Given the description of an element on the screen output the (x, y) to click on. 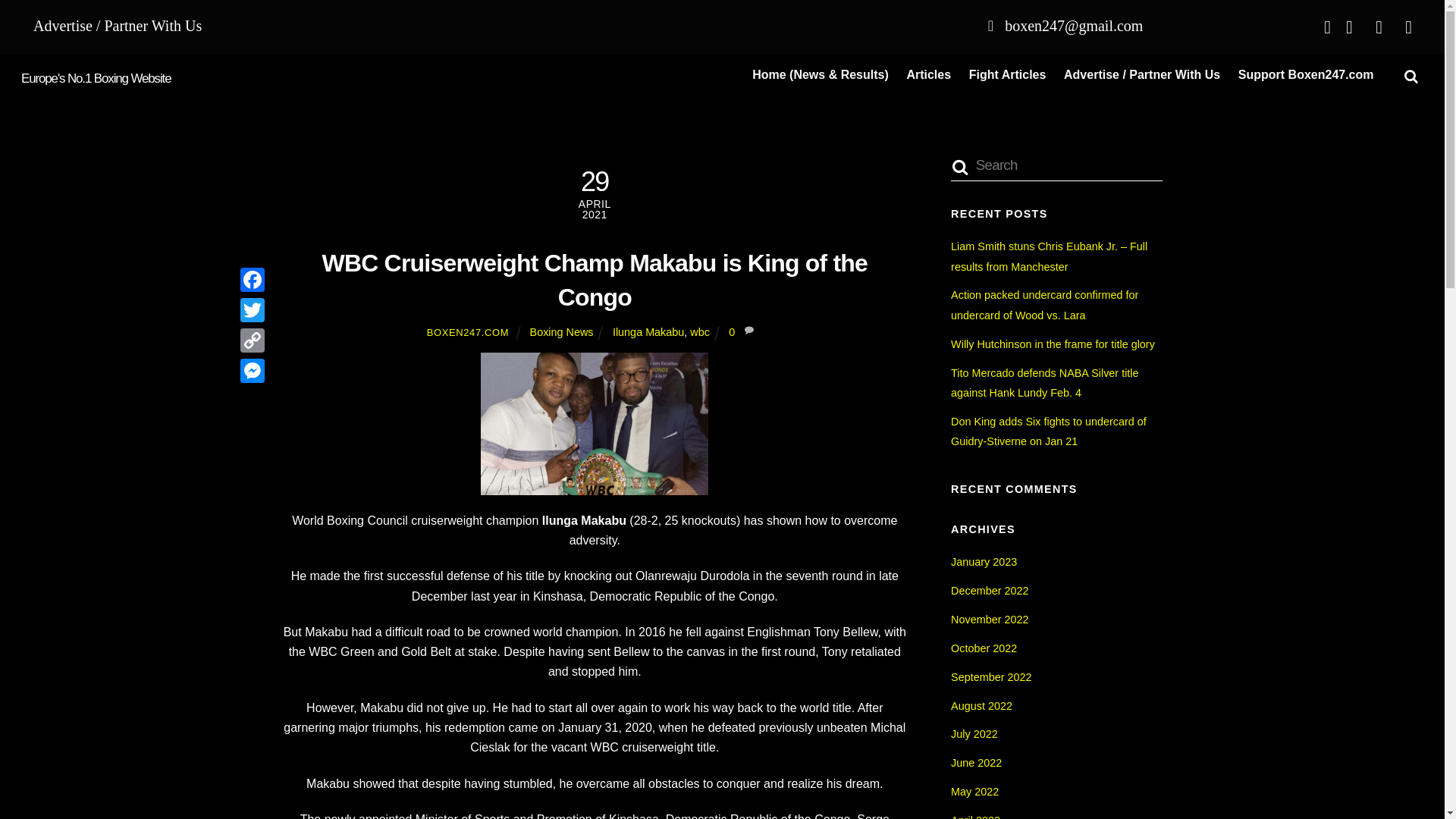
Search (1055, 165)
BOXEN247.COM (467, 332)
Europe's No.1 Boxing Website (95, 78)
WBC Cruiserweight Champ Makabu is King of the Congo (594, 280)
Boxing News (561, 331)
Ilunga Makabu (648, 331)
Articles (928, 75)
Europe's No.1 Boxing Website (95, 78)
Fight Articles (1006, 75)
Support Boxen247.com (1305, 75)
